Given the description of an element on the screen output the (x, y) to click on. 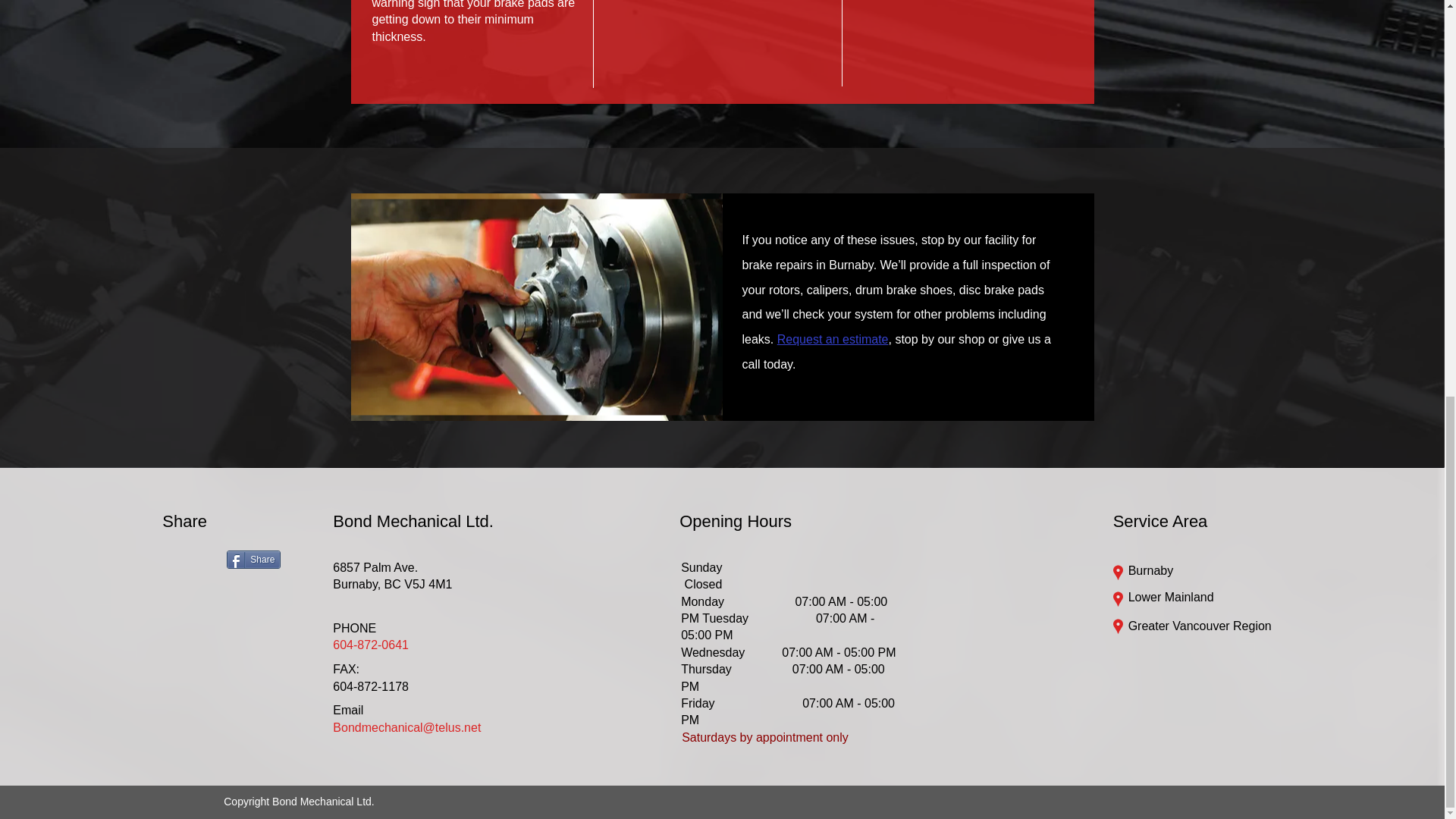
Share (254, 559)
604-872-0641 (371, 644)
Request an estimate, (834, 338)
Share (254, 559)
Facebook Like (191, 561)
